Given the description of an element on the screen output the (x, y) to click on. 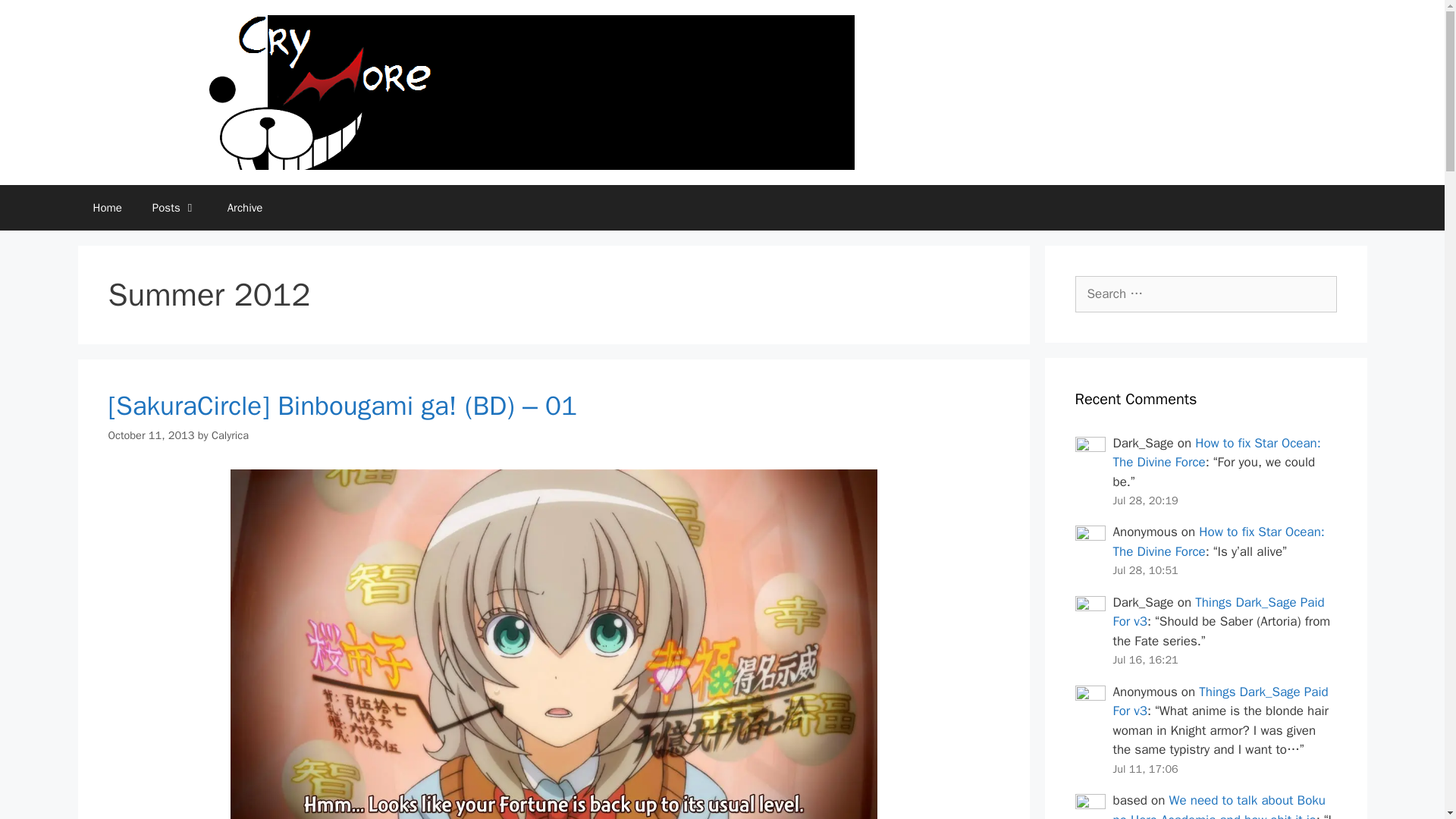
Calyrica (229, 435)
Posts (174, 207)
Home (106, 207)
Archive (245, 207)
View all posts by Calyrica (229, 435)
